Given the description of an element on the screen output the (x, y) to click on. 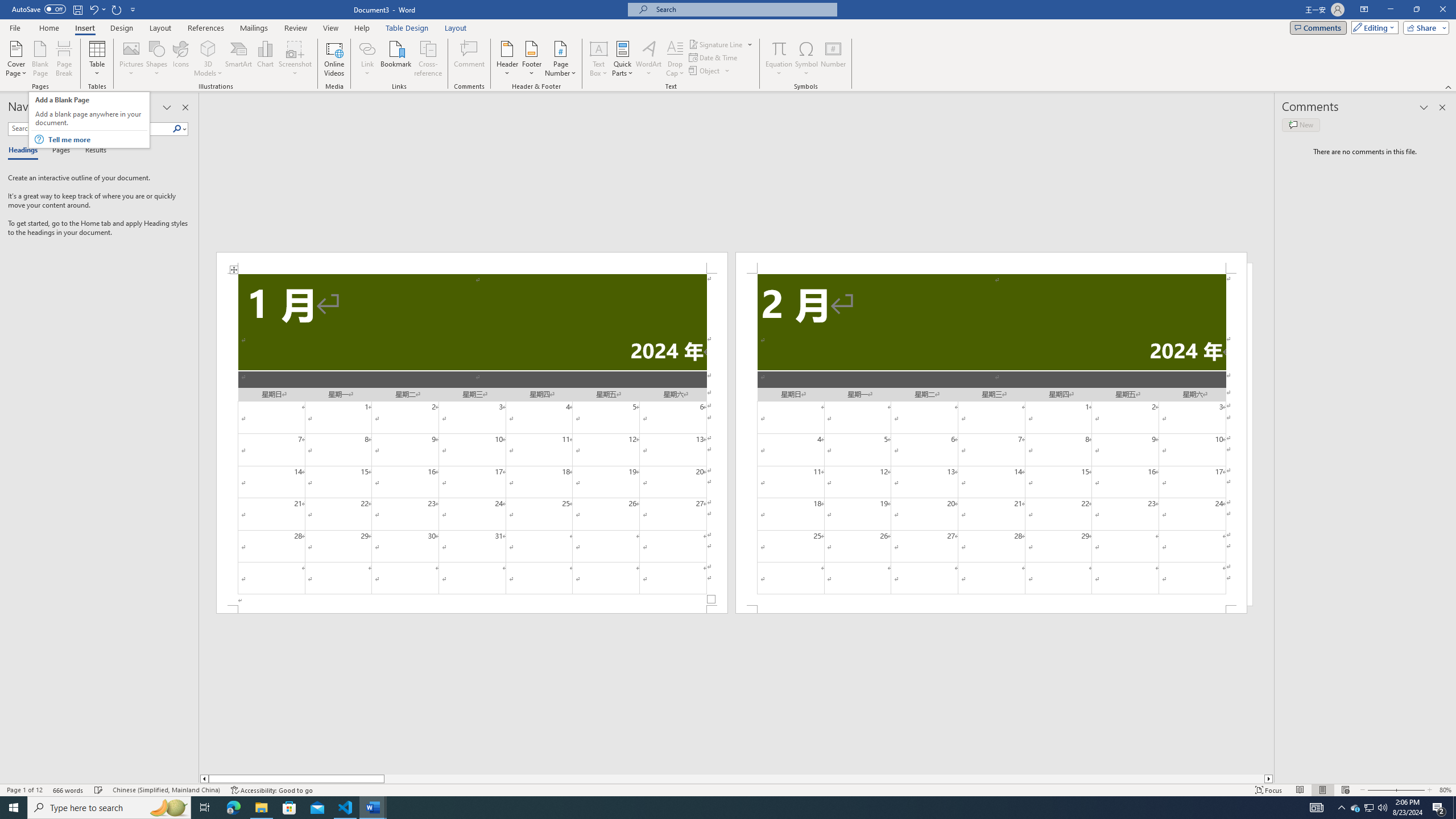
Footer -Section 1- (471, 609)
Page Break (63, 58)
Header -Section 1- (471, 263)
Page 2 content (991, 439)
Equation (778, 48)
Cover Page (16, 58)
Page right (823, 778)
Blank Page (40, 58)
